Given the description of an element on the screen output the (x, y) to click on. 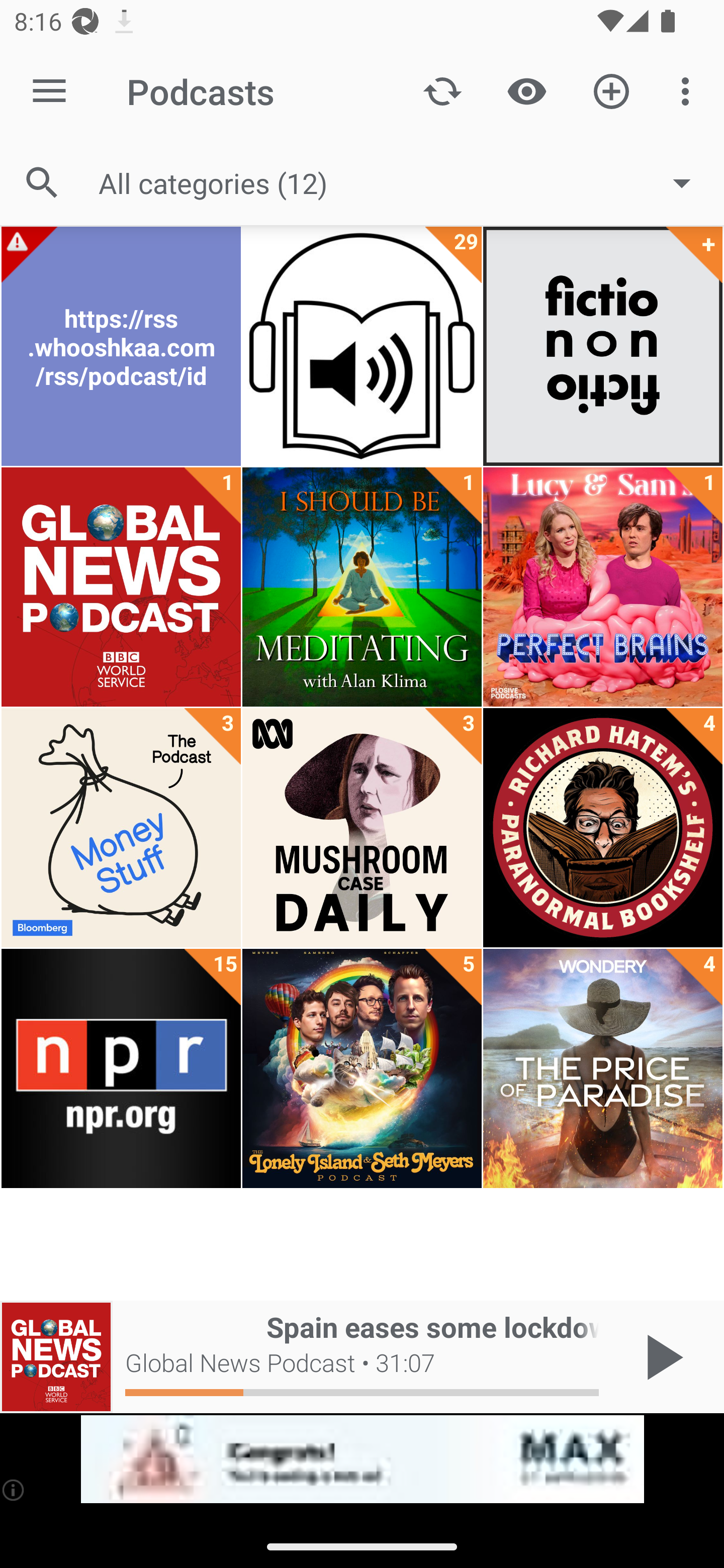
Open navigation sidebar (49, 91)
Update (442, 90)
Show / Hide played content (526, 90)
Add new Podcast (611, 90)
More options (688, 90)
Search (42, 183)
All categories (12) (404, 182)
https://rss.whooshkaa.com/rss/podcast/id/5884 (121, 346)
Audiobooks 29 (361, 346)
fiction/non/fiction + (602, 346)
Global News Podcast 1 (121, 587)
Lucy & Sam's Perfect Brains 1 (602, 587)
Money Stuff: The Podcast 3 (121, 827)
Mushroom Case Daily 3 (361, 827)
Richard Hatem's Paranormal Bookshelf 4 (602, 827)
Stories from NPR : NPR 15 (121, 1068)
The Lonely Island and Seth Meyers Podcast 5 (361, 1068)
The Price of Paradise 4 (602, 1068)
Play / Pause (660, 1356)
app-monetization (362, 1459)
(i) (14, 1489)
